Given the description of an element on the screen output the (x, y) to click on. 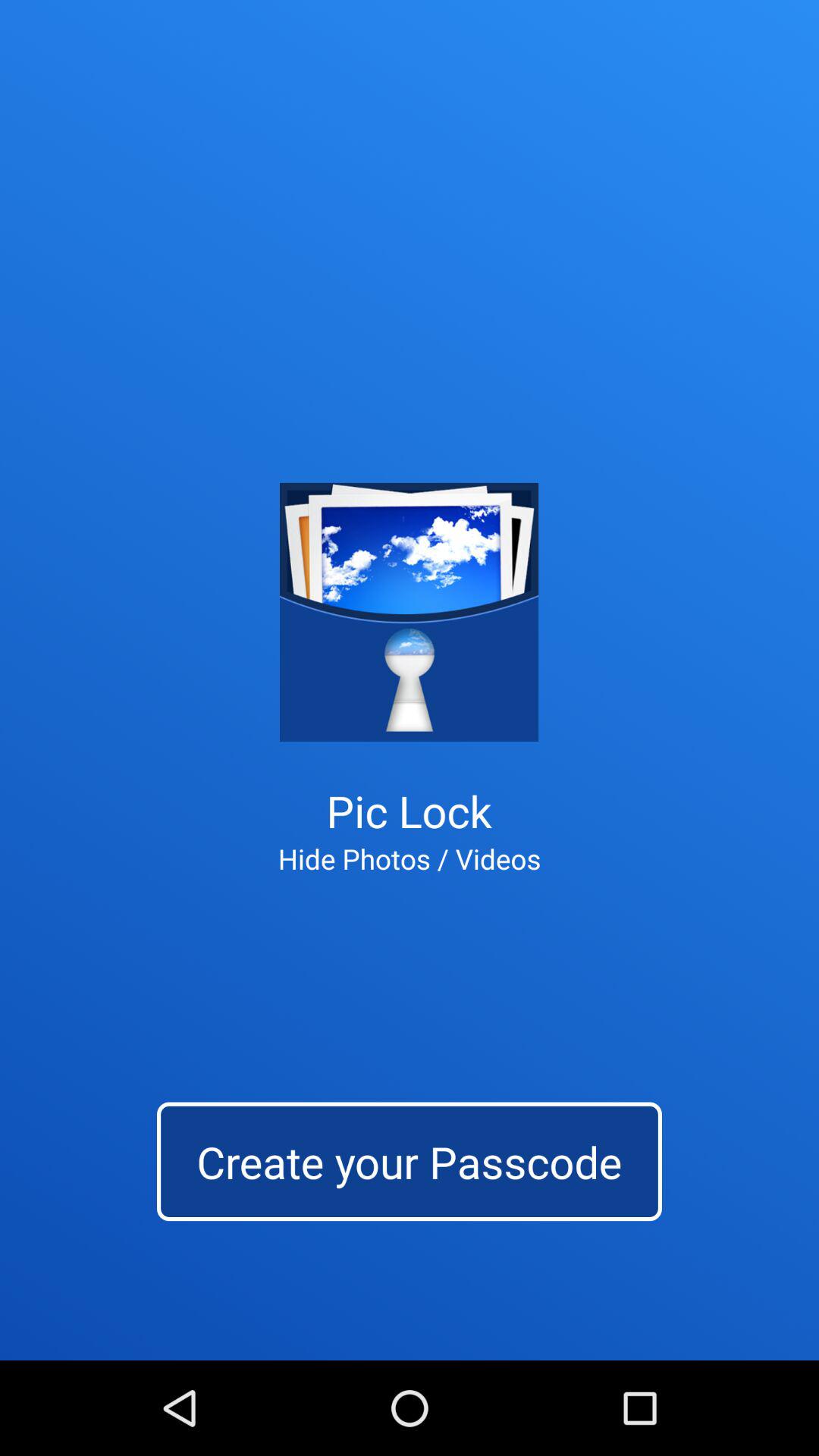
launch the item at the bottom (409, 1161)
